Given the description of an element on the screen output the (x, y) to click on. 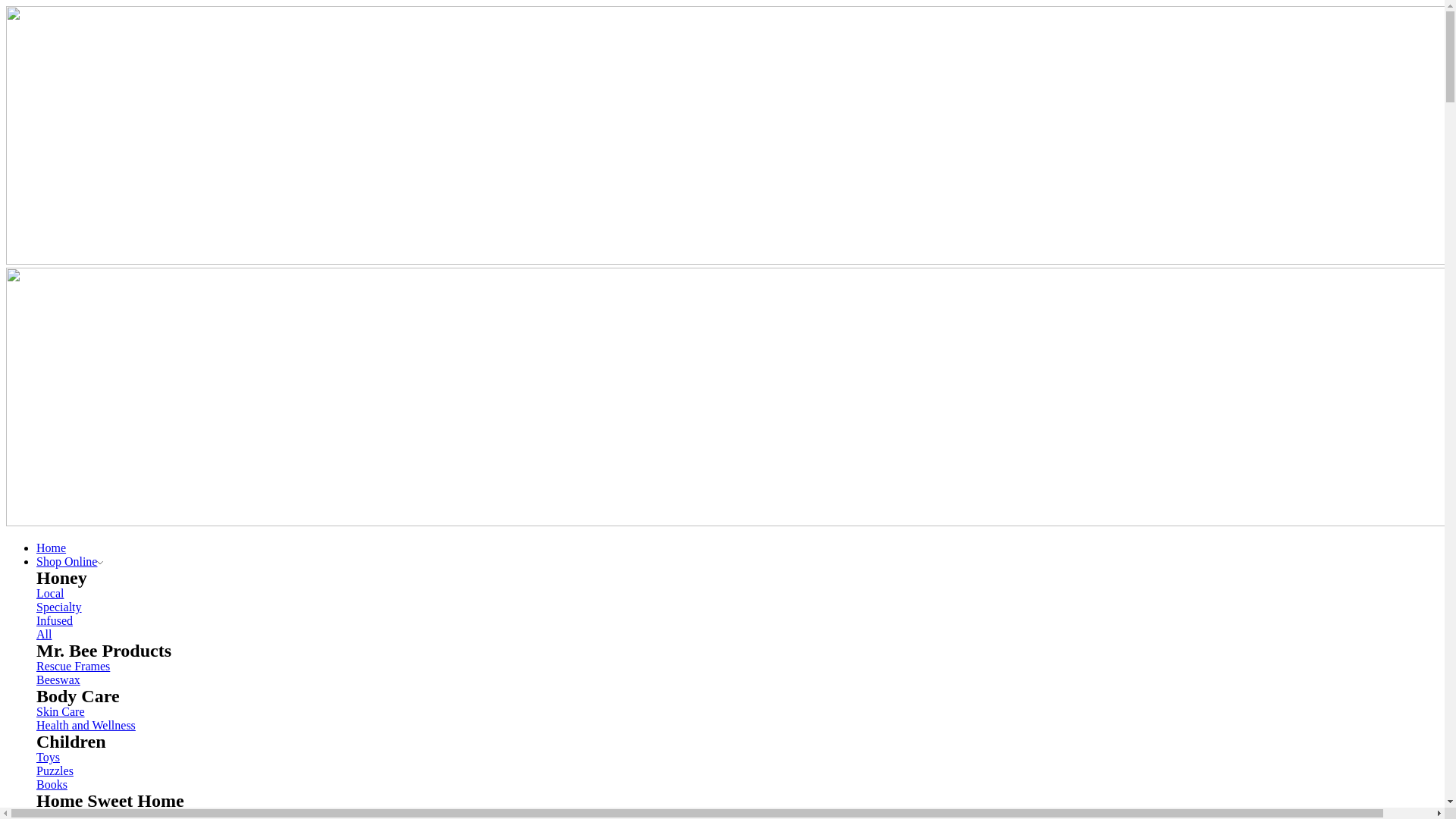
Books Element type: text (51, 784)
Toys Element type: text (47, 756)
All Element type: text (43, 633)
Beeswax Element type: text (58, 679)
Shop Online Element type: text (69, 561)
Skin Care Element type: text (60, 711)
Local Element type: text (49, 592)
Puzzles Element type: text (54, 770)
Specialty Element type: text (58, 606)
Home Element type: text (50, 547)
Rescue Frames Element type: text (72, 665)
Health and Wellness Element type: text (85, 724)
Infused Element type: text (54, 620)
